Given the description of an element on the screen output the (x, y) to click on. 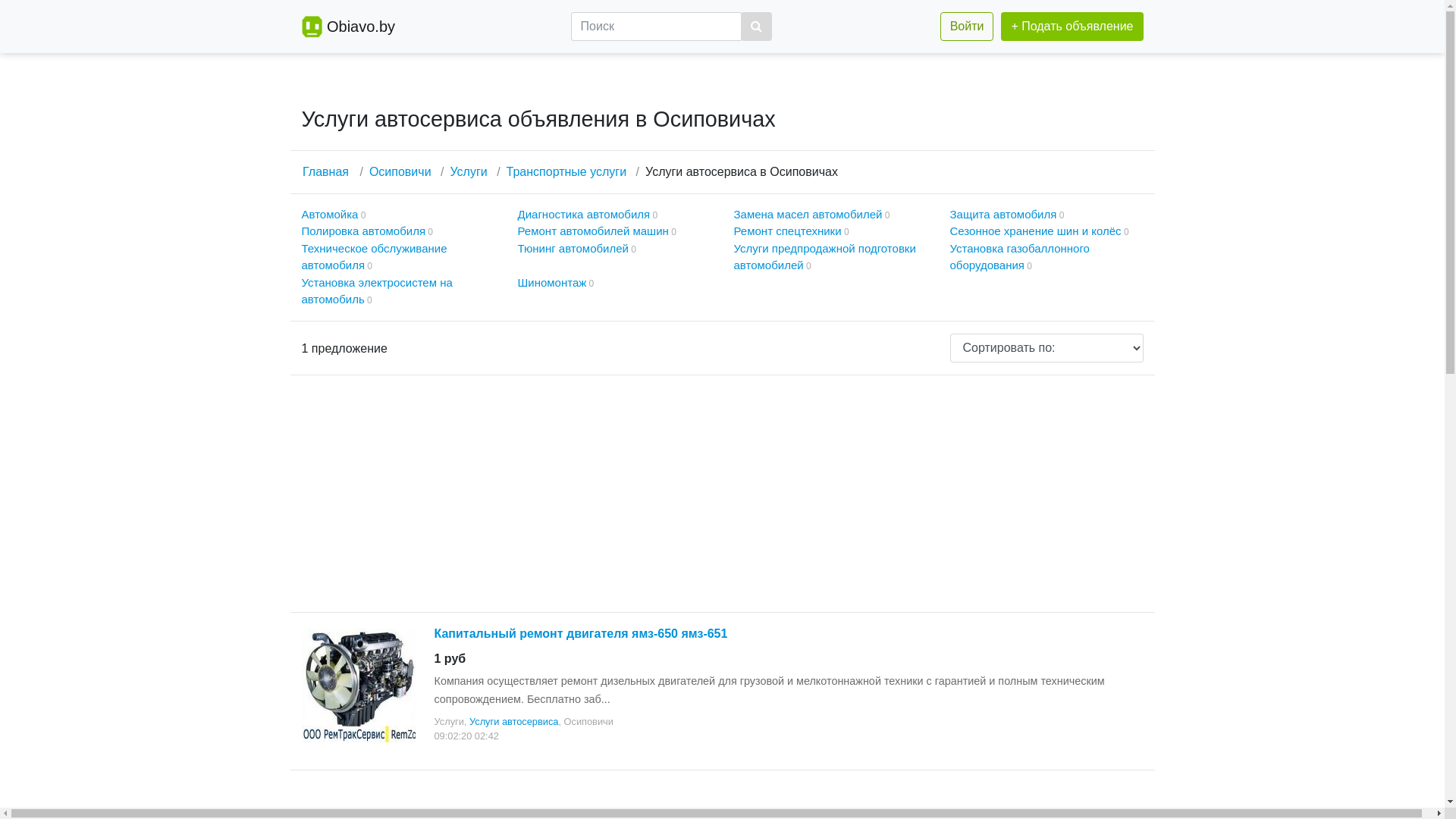
Obiavo.by Element type: text (360, 26)
Advertisement Element type: hover (721, 493)
